Given the description of an element on the screen output the (x, y) to click on. 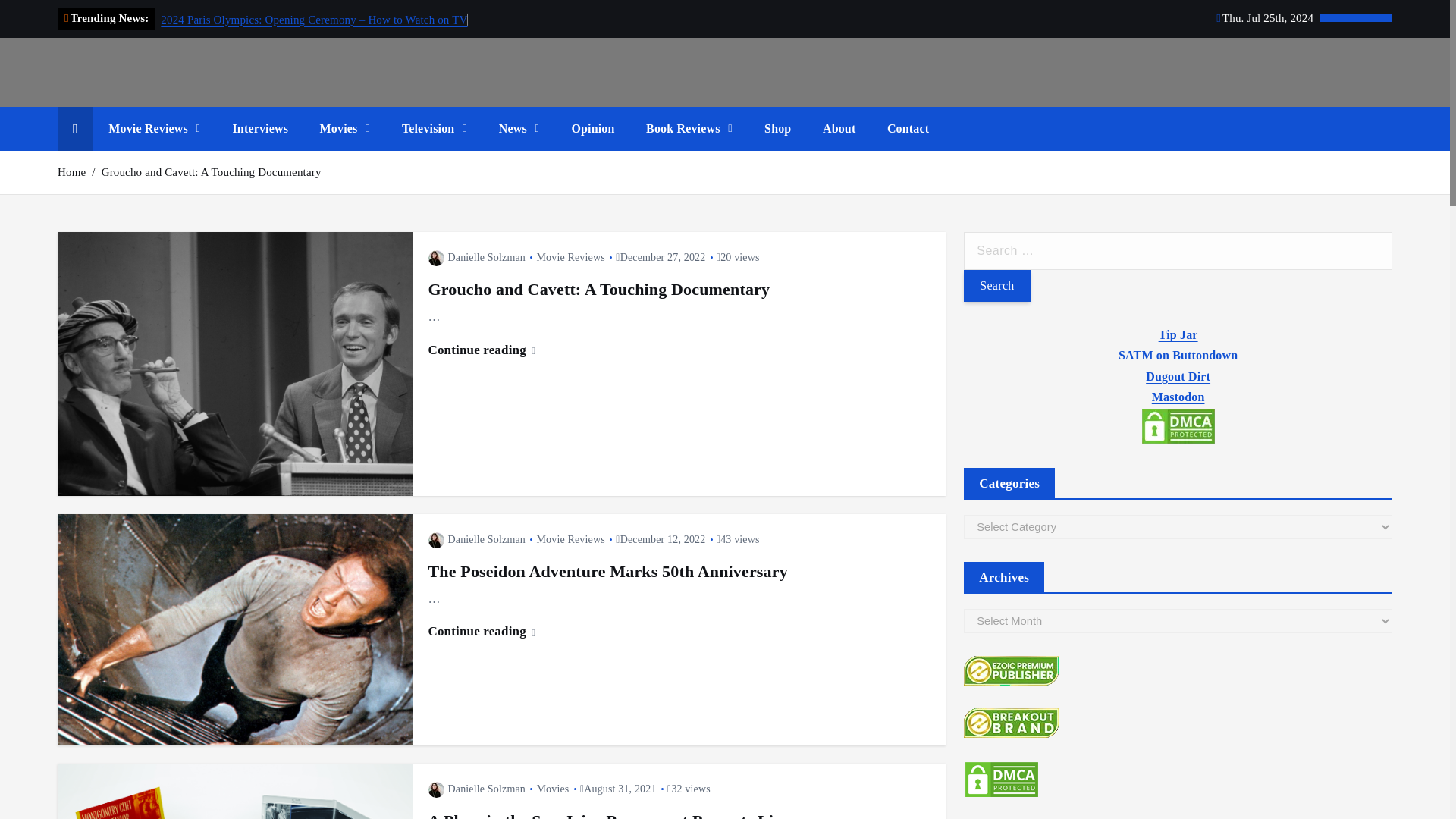
Search (996, 286)
Movie Reviews (154, 128)
Movies (344, 128)
Interviews (259, 128)
Search (996, 286)
